Given the description of an element on the screen output the (x, y) to click on. 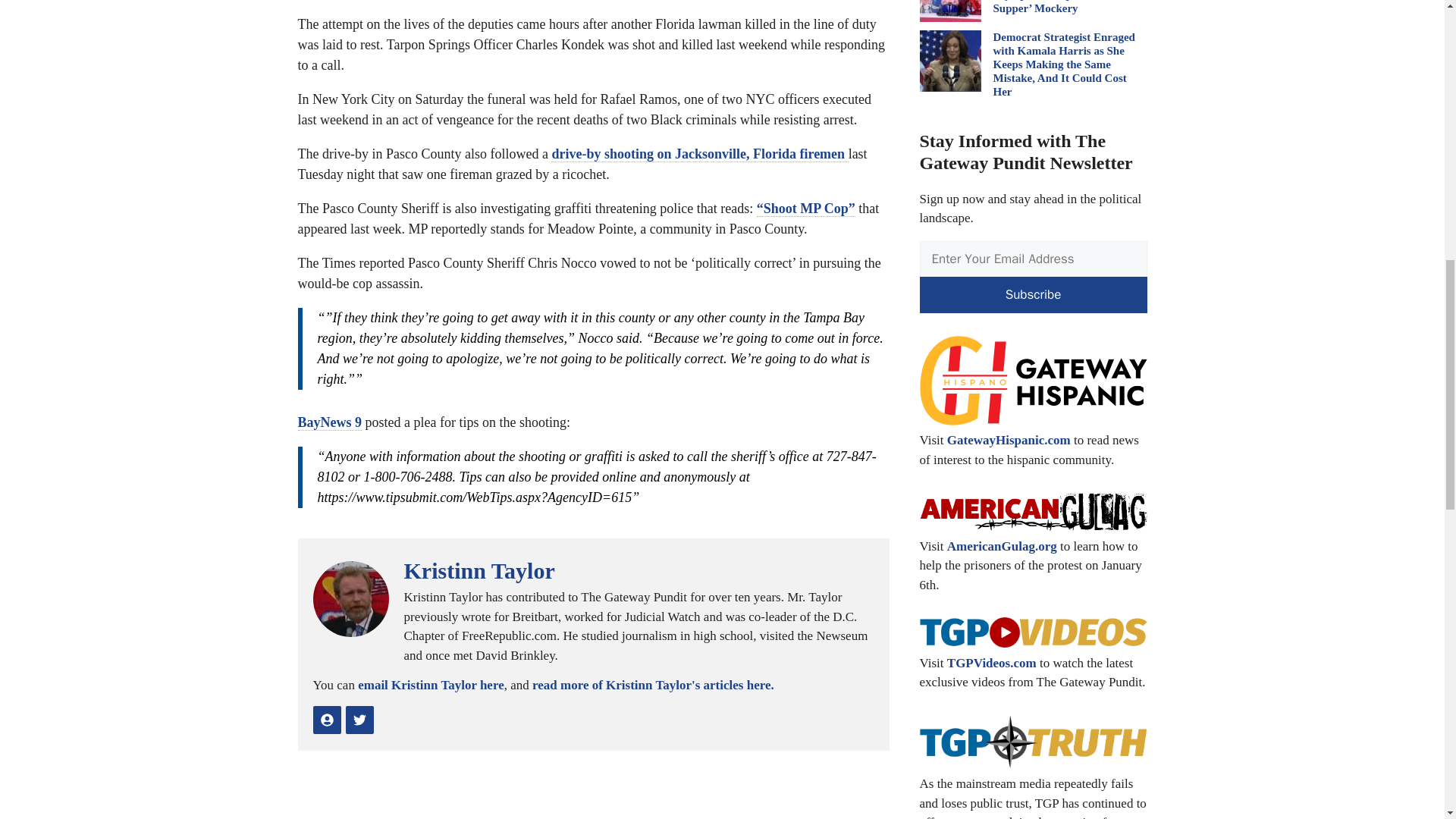
Subscribe (1032, 294)
